Given the description of an element on the screen output the (x, y) to click on. 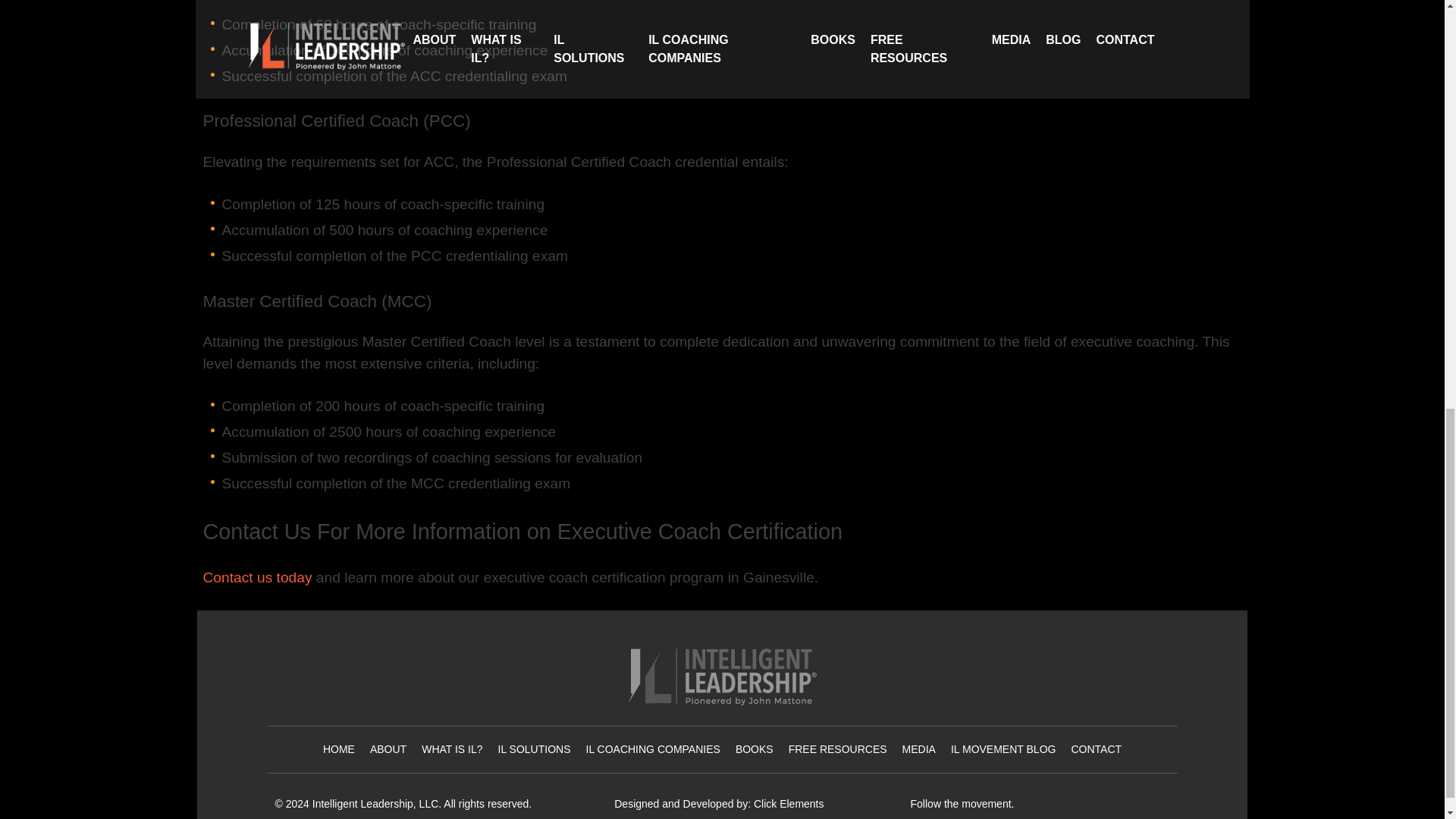
HOME (339, 748)
IL COACHING COMPANIES (653, 748)
CONTACT (1095, 748)
ABOUT (387, 748)
BOOKS (754, 748)
IL SOLUTIONS (533, 748)
Contact us today (258, 577)
IL MOVEMENT BLOG (1002, 748)
FREE RESOURCES (837, 748)
MEDIA (919, 748)
